Given the description of an element on the screen output the (x, y) to click on. 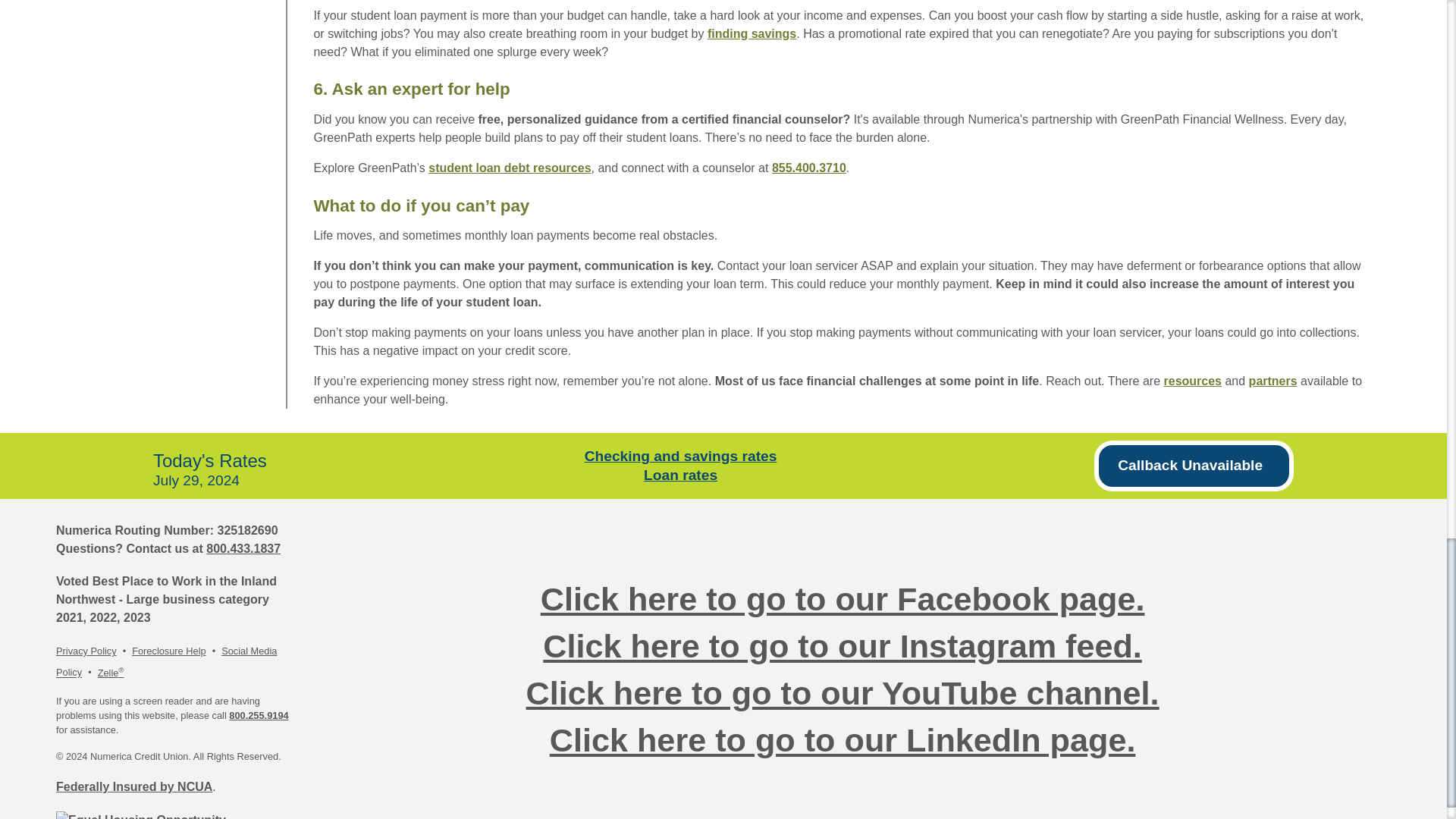
Social Media Policy (166, 661)
Numerica phone number footer (243, 548)
deposit account rates (681, 455)
Loan rates table (680, 474)
privacy policy (86, 650)
Equal housing (140, 815)
